Given the description of an element on the screen output the (x, y) to click on. 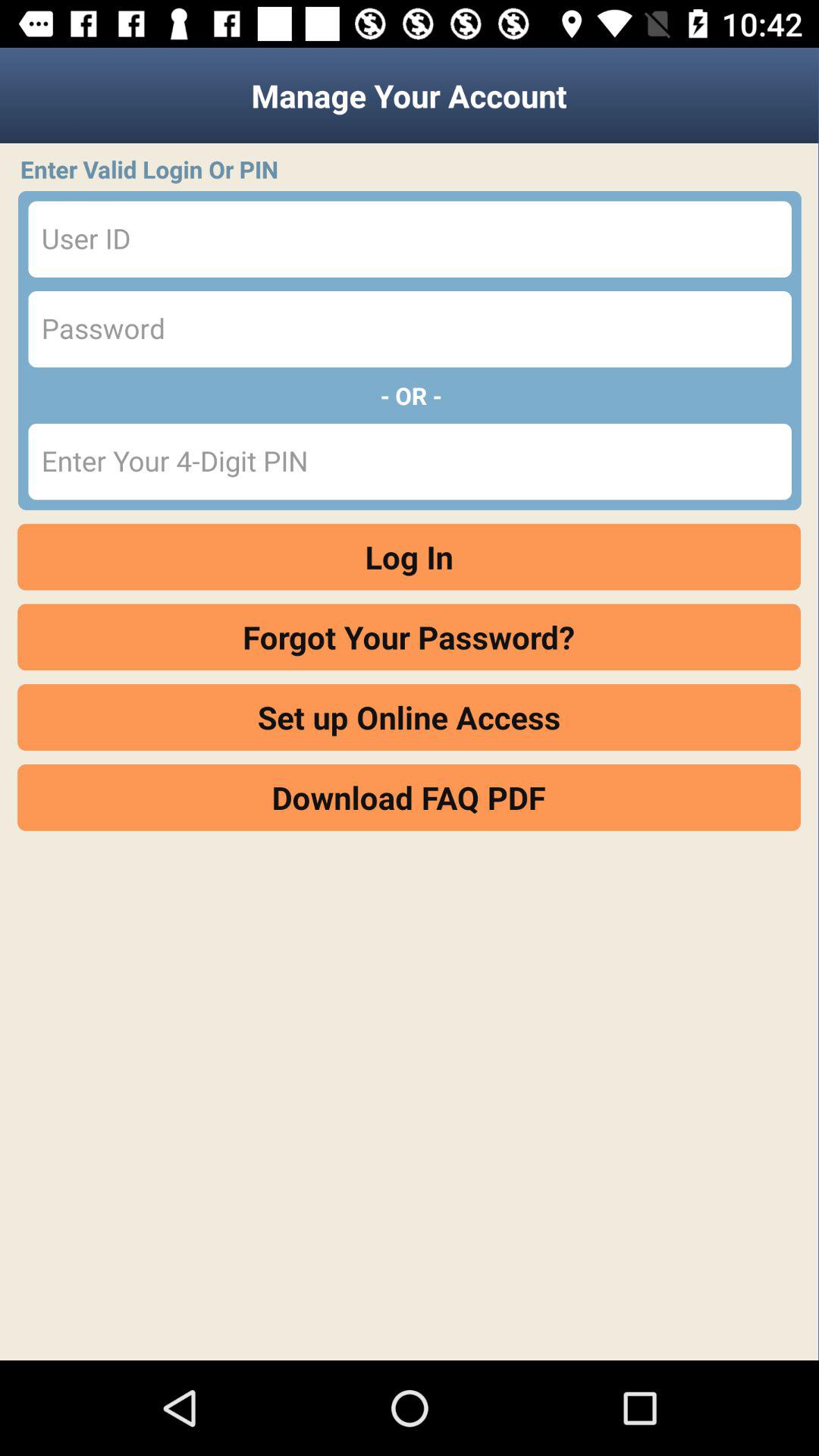
toggle security option (409, 329)
